Given the description of an element on the screen output the (x, y) to click on. 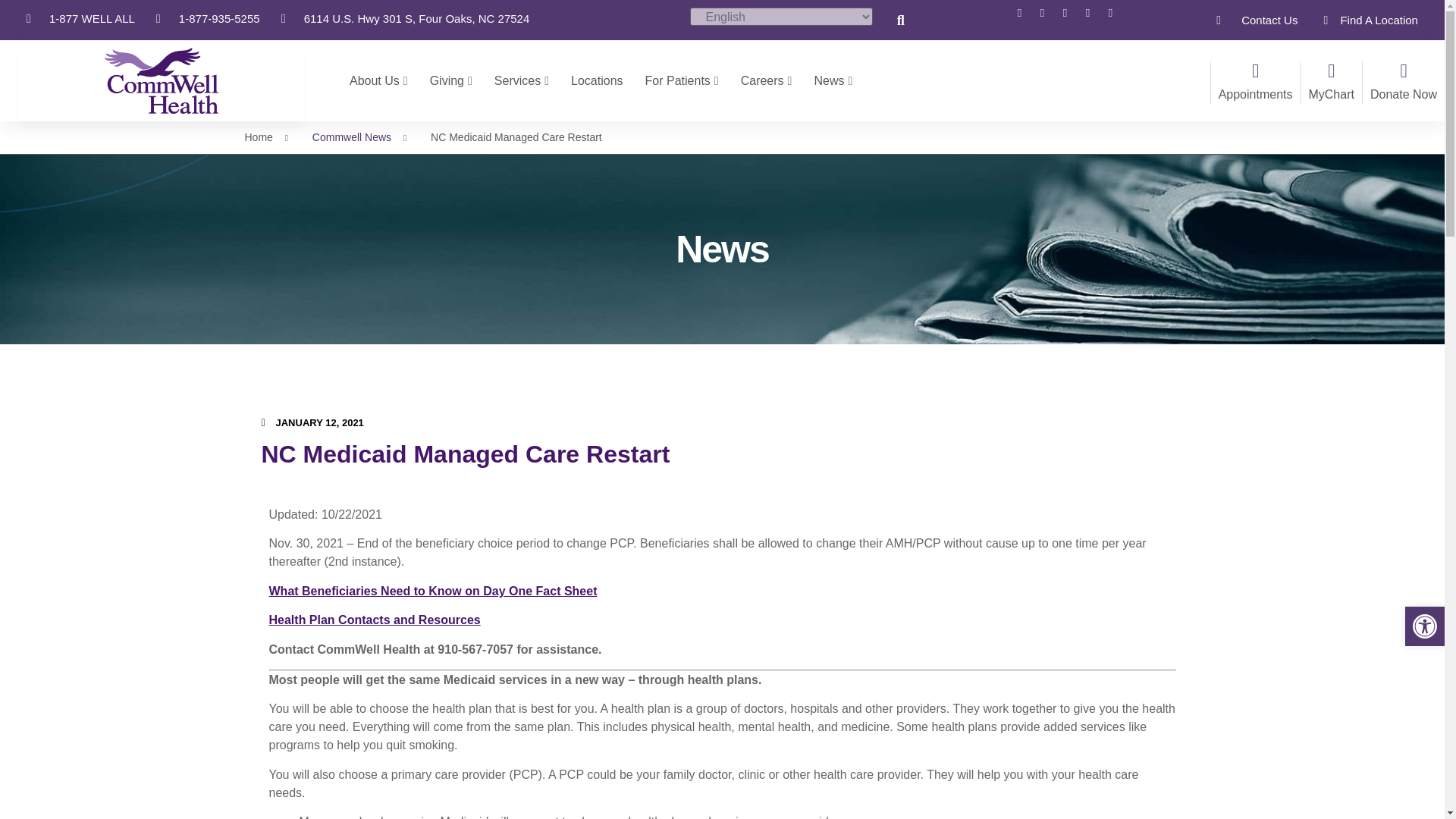
Contact Us (1256, 19)
1-877-935-5255 (207, 18)
1-877 WELL ALL (80, 18)
Accessibility Tools (1424, 626)
Find A Location (1365, 19)
About Us (378, 80)
